Given the description of an element on the screen output the (x, y) to click on. 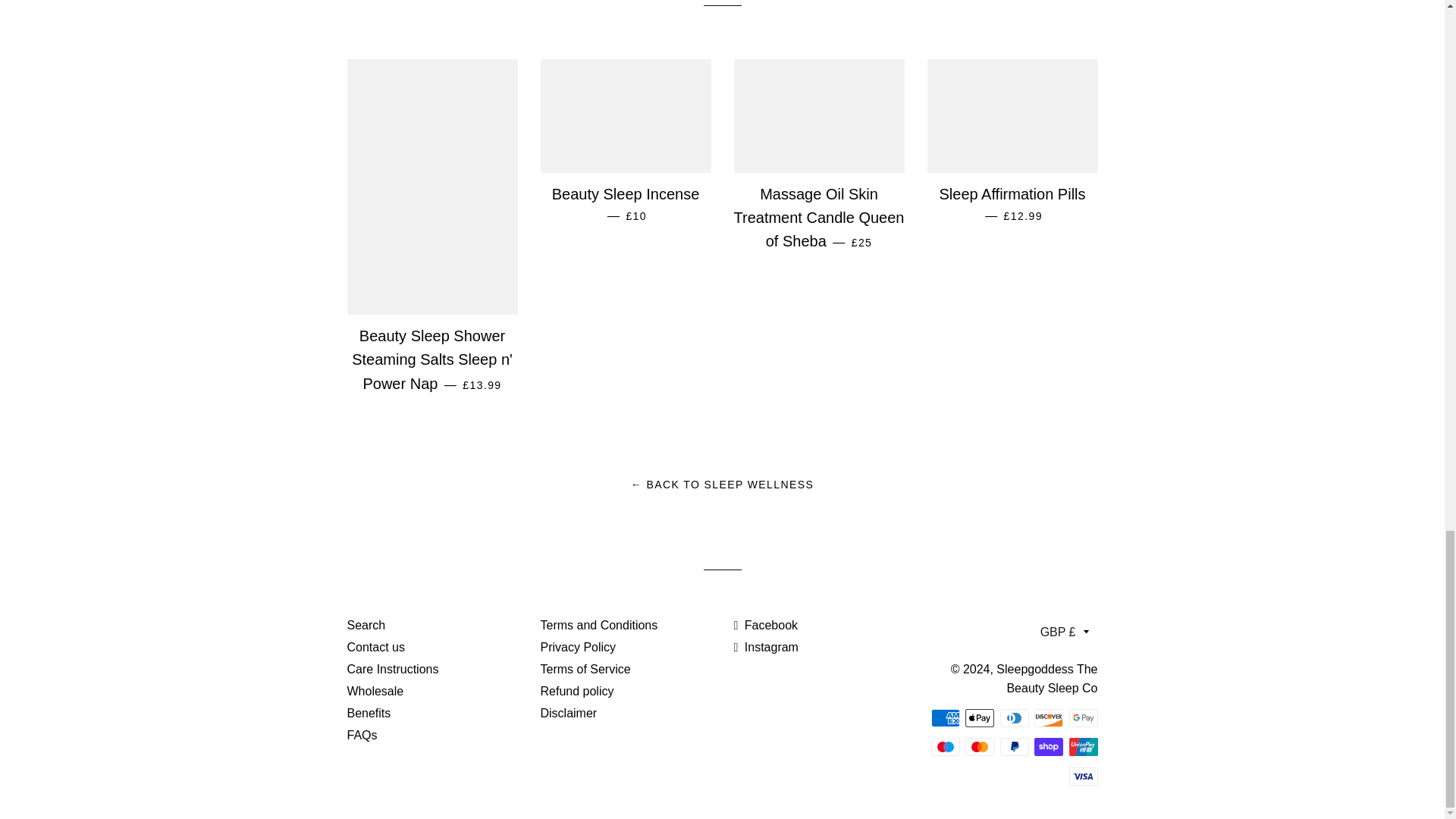
PayPal (1012, 746)
Mastercard (979, 746)
Google Pay (1082, 718)
American Express (945, 718)
Sleepgoddess The Beauty Sleep Co on Facebook (765, 625)
Union Pay (1082, 746)
Diners Club (1012, 718)
Apple Pay (979, 718)
Visa (1082, 776)
Sleepgoddess The Beauty Sleep Co on Instagram (765, 646)
